Given the description of an element on the screen output the (x, y) to click on. 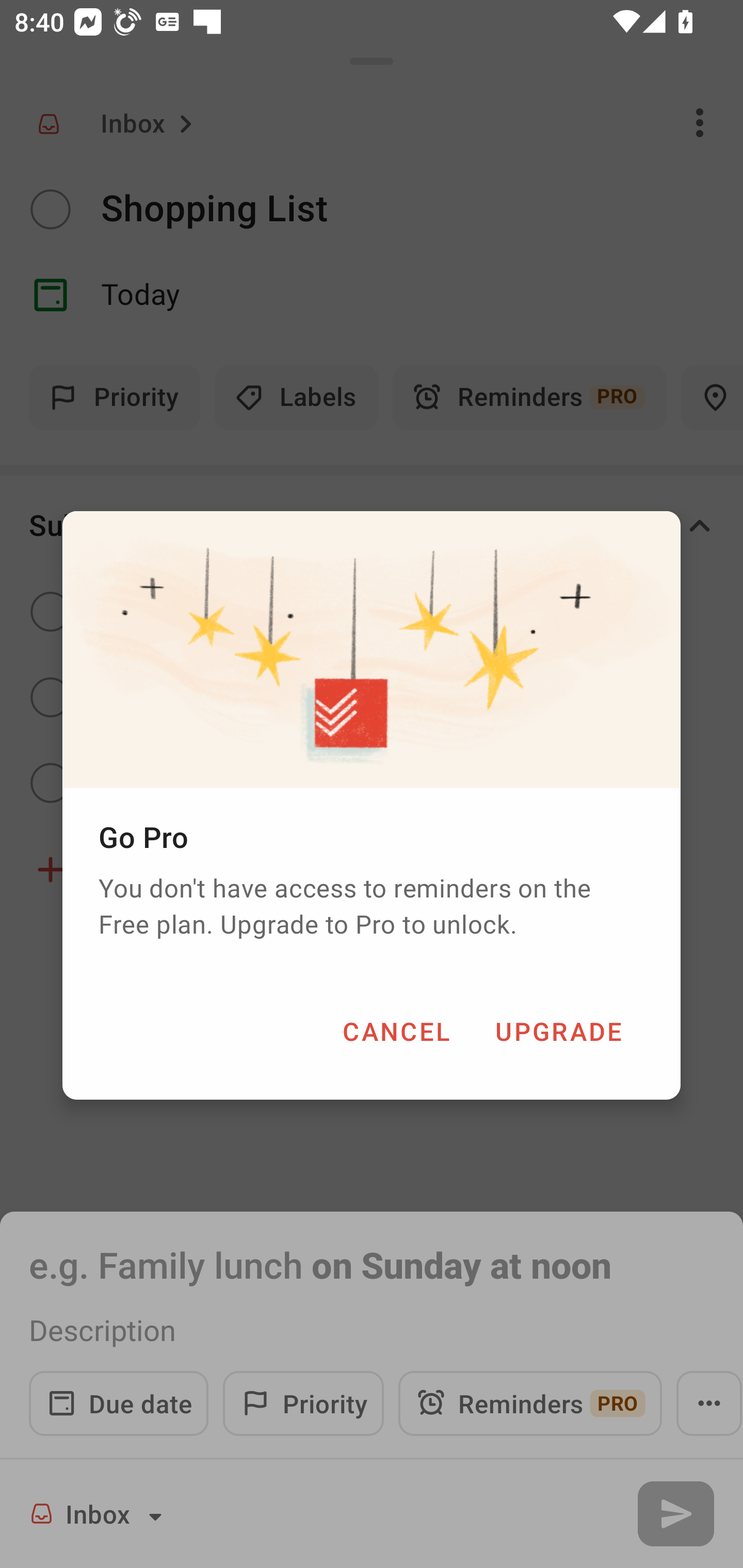
CANCEL (395, 1030)
UPGRADE (558, 1030)
